Given the description of an element on the screen output the (x, y) to click on. 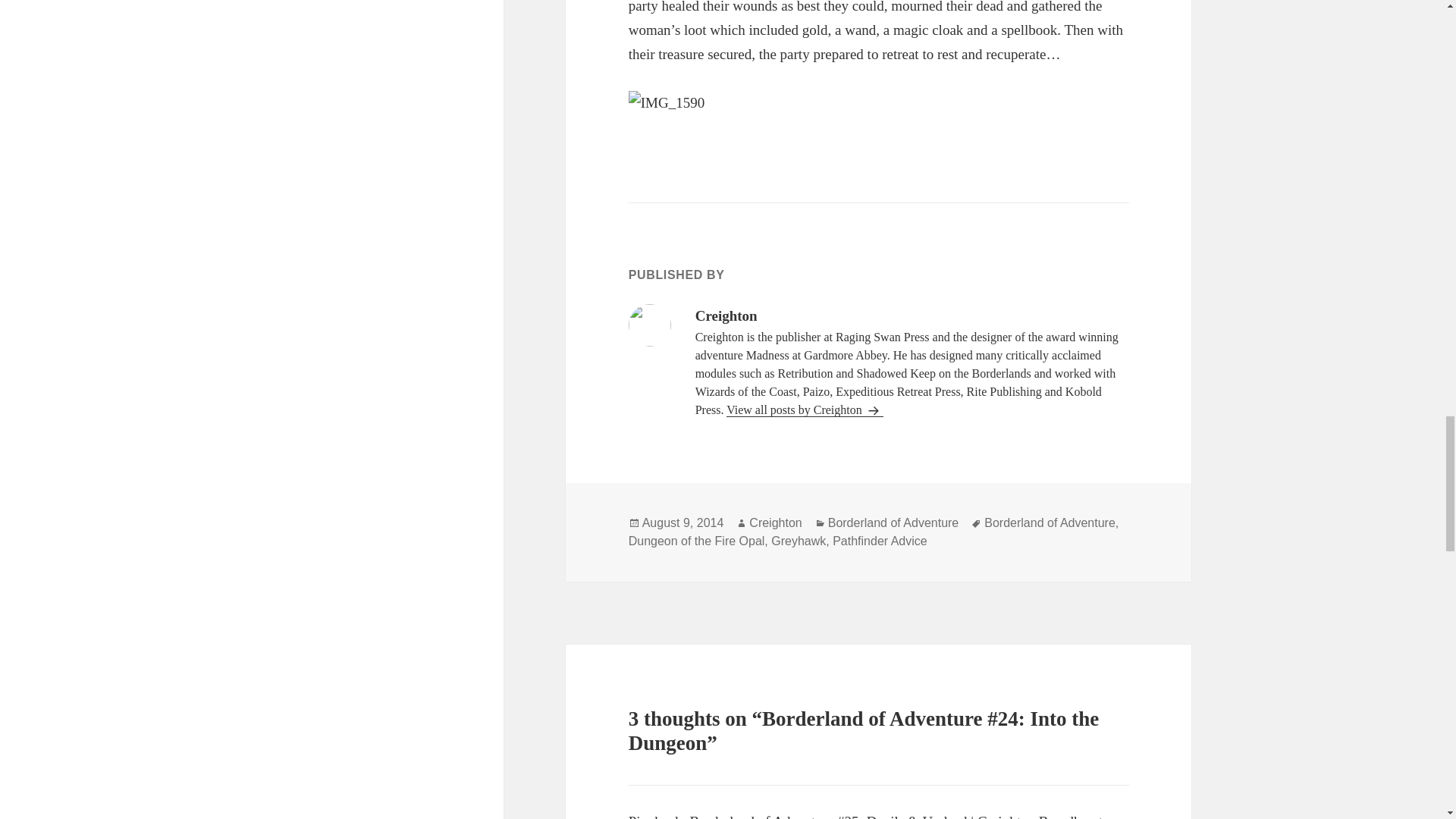
Greyhawk (798, 540)
View all posts by Creighton (804, 409)
Borderland of Adventure (1049, 522)
Dungeon of the Fire Opal (696, 540)
Pathfinder Advice (879, 540)
August 9, 2014 (682, 522)
Creighton (775, 522)
Borderland of Adventure (893, 522)
